Given the description of an element on the screen output the (x, y) to click on. 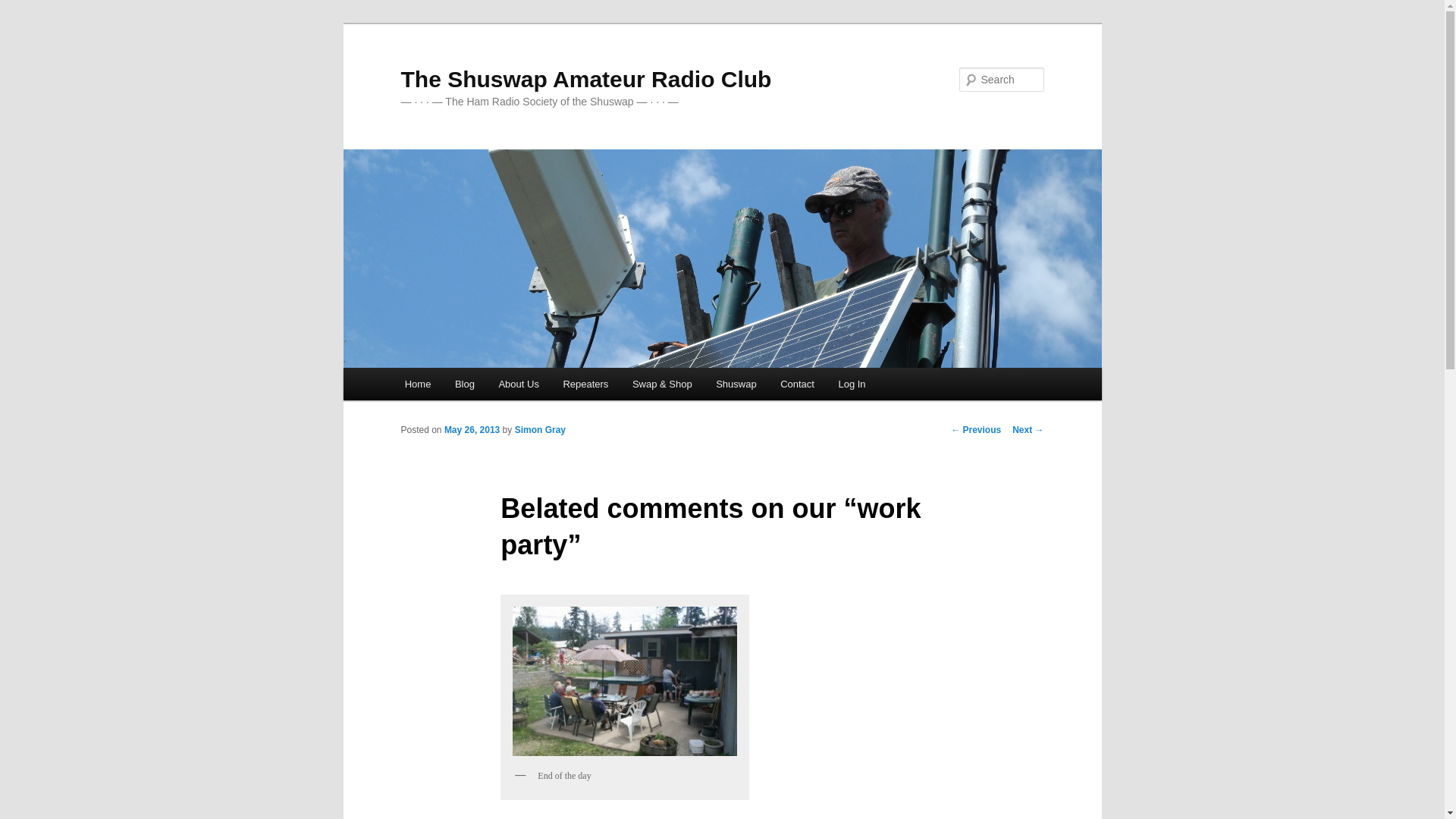
Home (417, 383)
7:18 am (471, 429)
Search (24, 8)
Contact (796, 383)
View all posts by Simon Gray (540, 429)
About Us (518, 383)
Log In (852, 383)
The Shuswap Amateur Radio Club (585, 78)
Repeaters (585, 383)
Blog (464, 383)
Shuswap (735, 383)
